Given the description of an element on the screen output the (x, y) to click on. 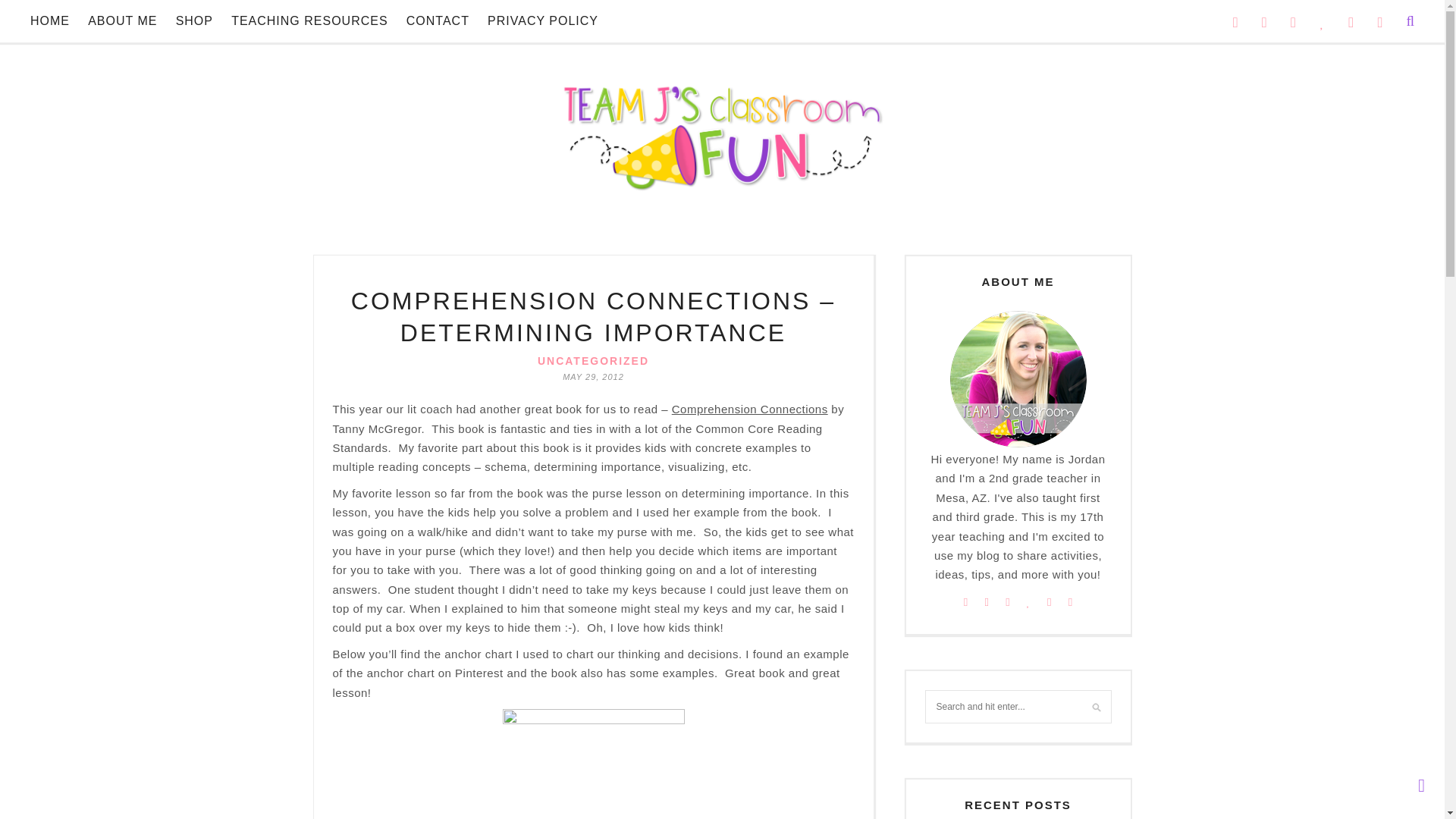
UNCATEGORIZED (593, 360)
CONTACT (437, 21)
ABOUT ME (122, 21)
PRIVACY POLICY (542, 21)
HOME (49, 21)
TEACHING RESOURCES (309, 21)
SHOP (194, 21)
